Given the description of an element on the screen output the (x, y) to click on. 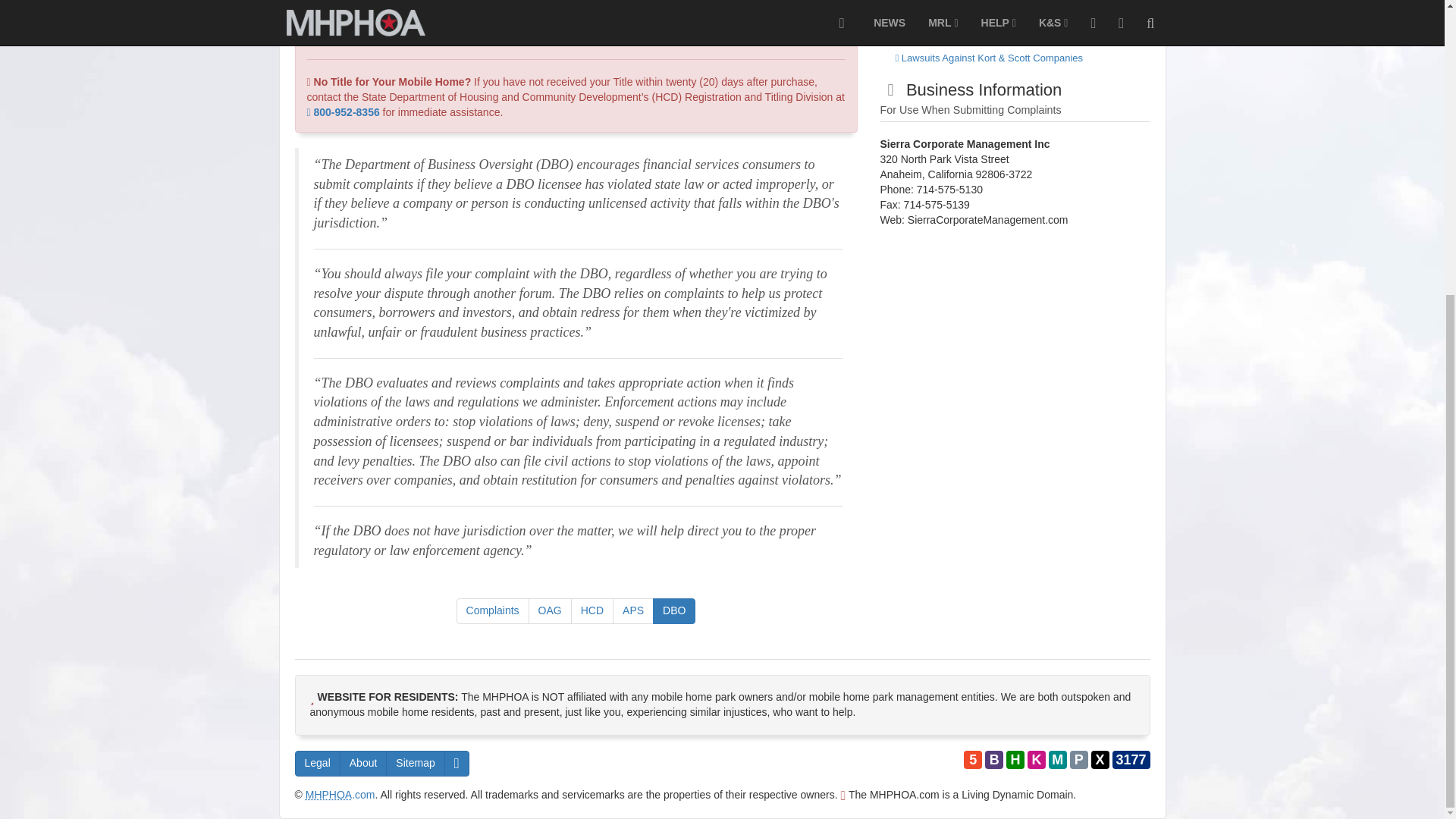
Bootstrap (994, 760)
KARMA (1036, 760)
Adult Protective Services (632, 611)
Department of Housing and Community Development (591, 611)
Department of Business Oversight (673, 611)
MHPHOA on Facebook (456, 763)
HTTPS (1015, 760)
Perfect Foward Secrecy (1078, 760)
Important Information Disclaimer (316, 763)
Office of the Attorney General (550, 611)
HTML5 (972, 760)
Mobile First (1057, 760)
